Given the description of an element on the screen output the (x, y) to click on. 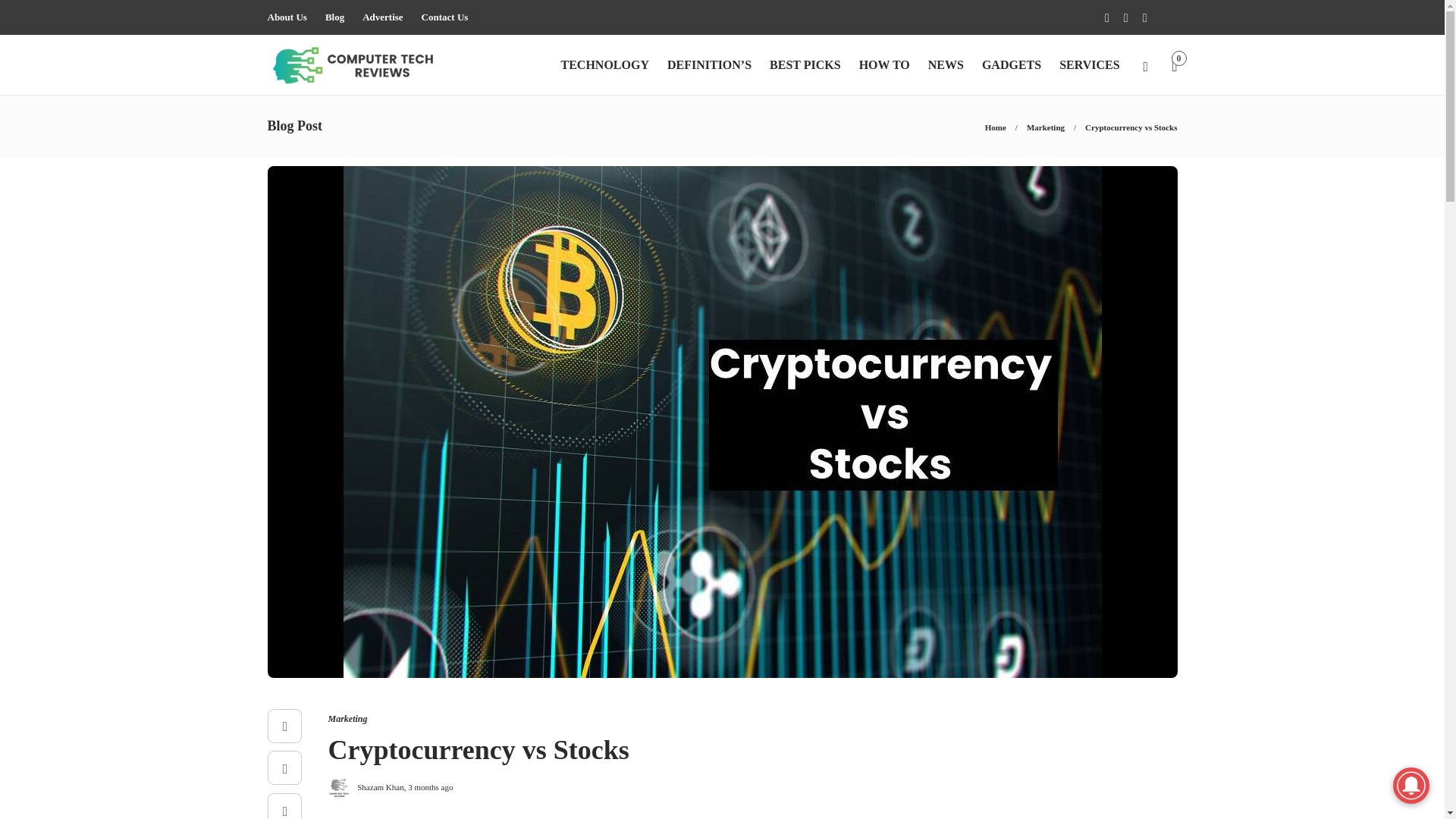
TECHNOLOGY (603, 65)
About Us (285, 17)
Home (995, 126)
Cryptocurrency vs Stocks (1130, 126)
Marketing (1045, 126)
Contact Us (445, 17)
Advertise (382, 17)
GADGETS (1011, 65)
Home (995, 126)
SERVICES (1089, 65)
BEST PICKS (805, 65)
